Given the description of an element on the screen output the (x, y) to click on. 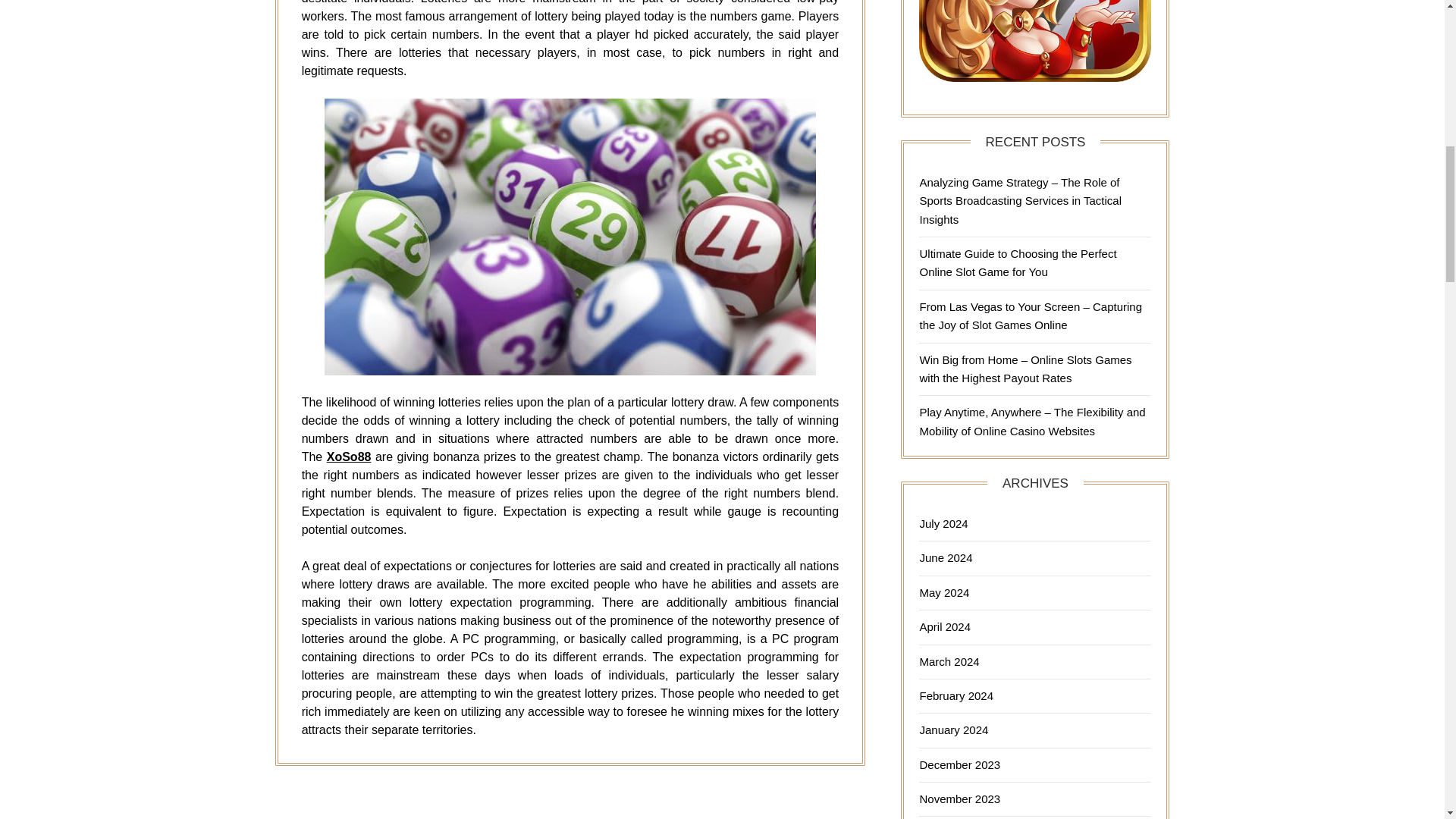
February 2024 (955, 695)
November 2023 (959, 798)
March 2024 (948, 661)
May 2024 (943, 592)
June 2024 (945, 557)
April 2024 (944, 626)
XoSo88 (348, 456)
January 2024 (953, 729)
December 2023 (959, 764)
July 2024 (943, 522)
